Given the description of an element on the screen output the (x, y) to click on. 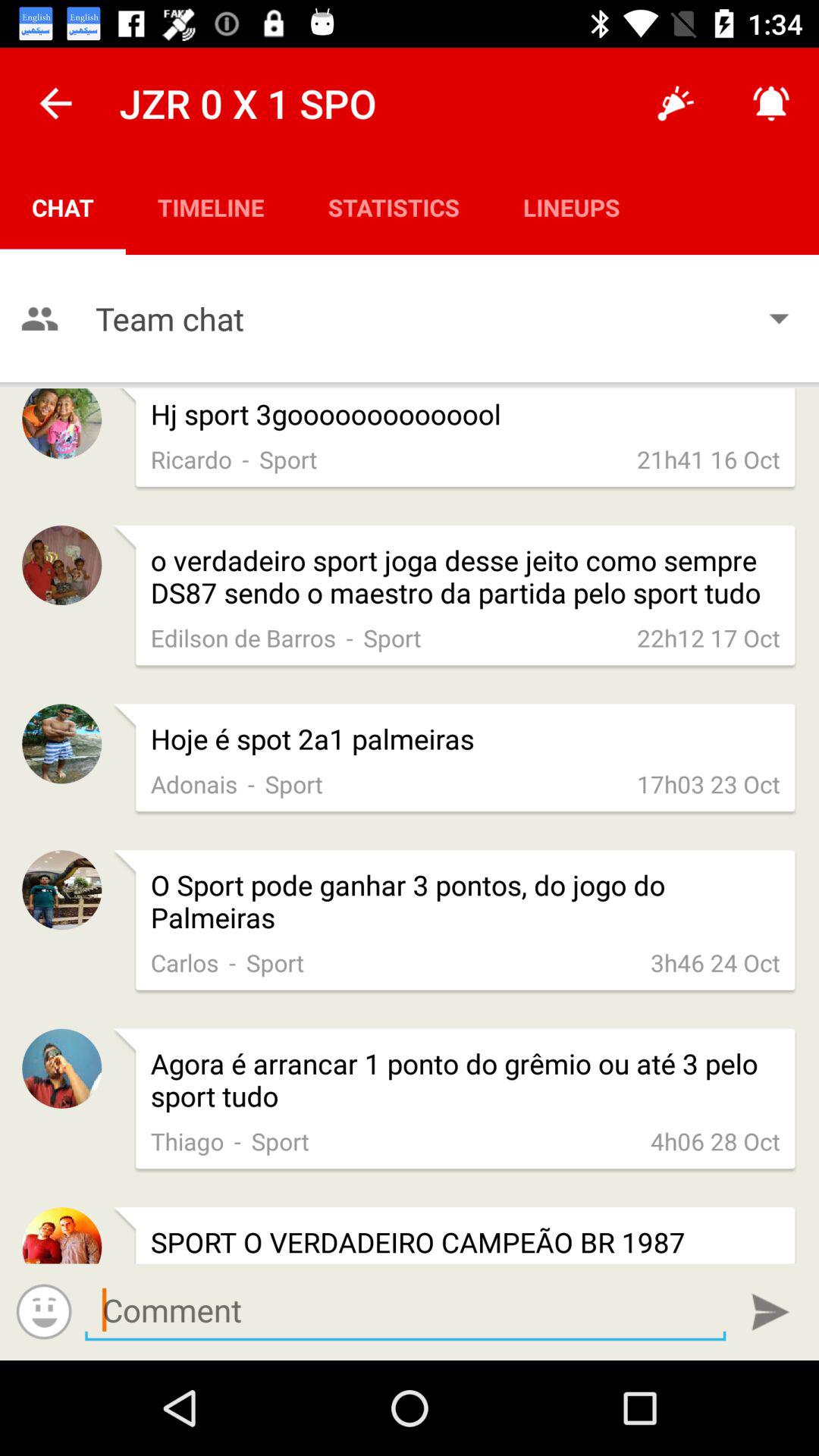
choose the item to the right of statistics item (571, 206)
